Given the description of an element on the screen output the (x, y) to click on. 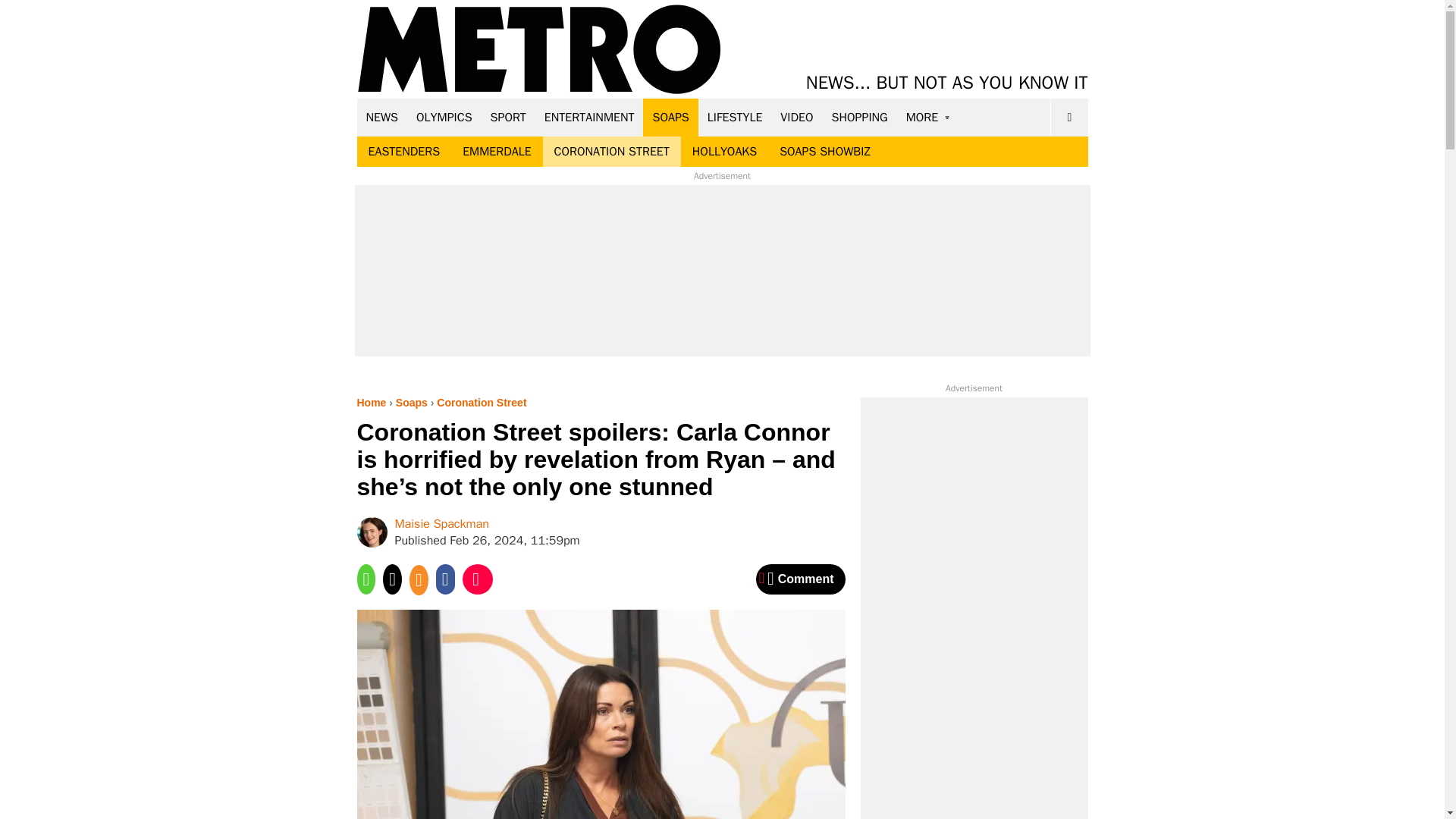
ENTERTAINMENT (589, 117)
Metro (539, 50)
NEWS (381, 117)
EASTENDERS (403, 151)
EMMERDALE (496, 151)
SOAPS SHOWBIZ (825, 151)
SPORT (508, 117)
LIFESTYLE (734, 117)
CORONATION STREET (612, 151)
HOLLYOAKS (724, 151)
OLYMPICS (444, 117)
SOAPS (670, 117)
